Given the description of an element on the screen output the (x, y) to click on. 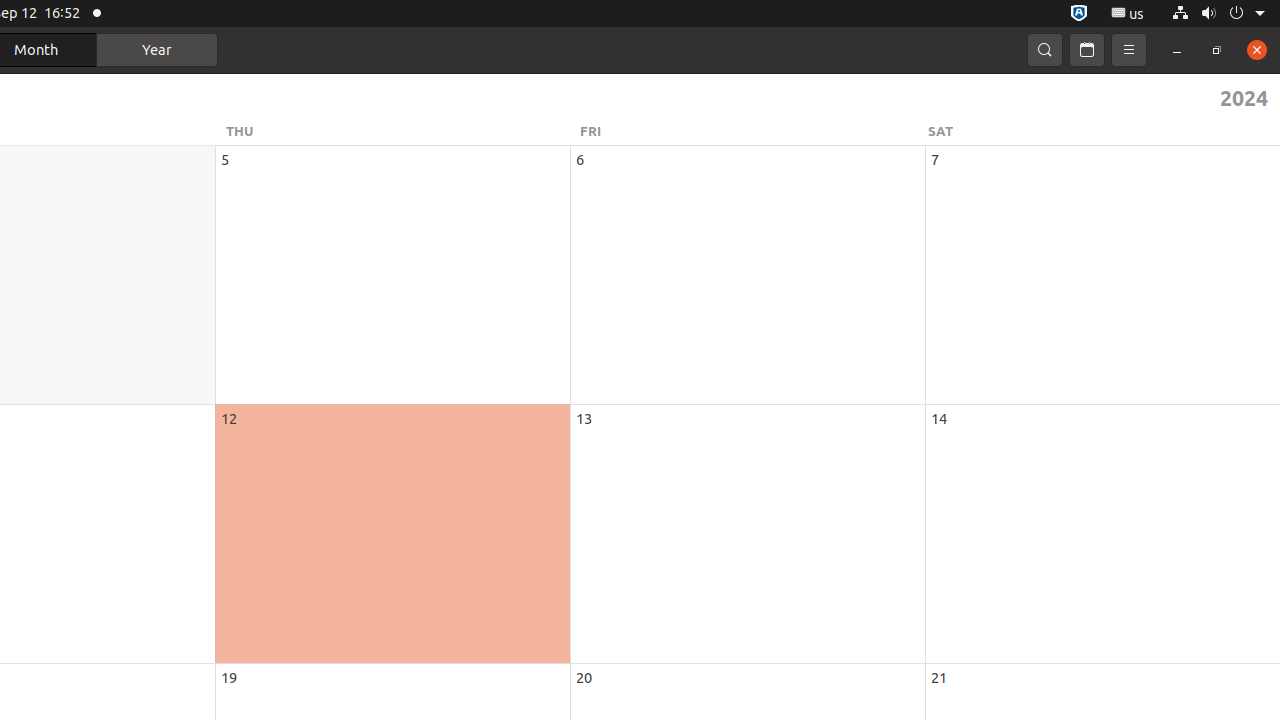
FRI Element type: label (751, 131)
Restore Element type: push-button (1217, 50)
6 Element type: label (580, 159)
Minimize Element type: push-button (1177, 50)
14 Element type: label (939, 418)
